Given the description of an element on the screen output the (x, y) to click on. 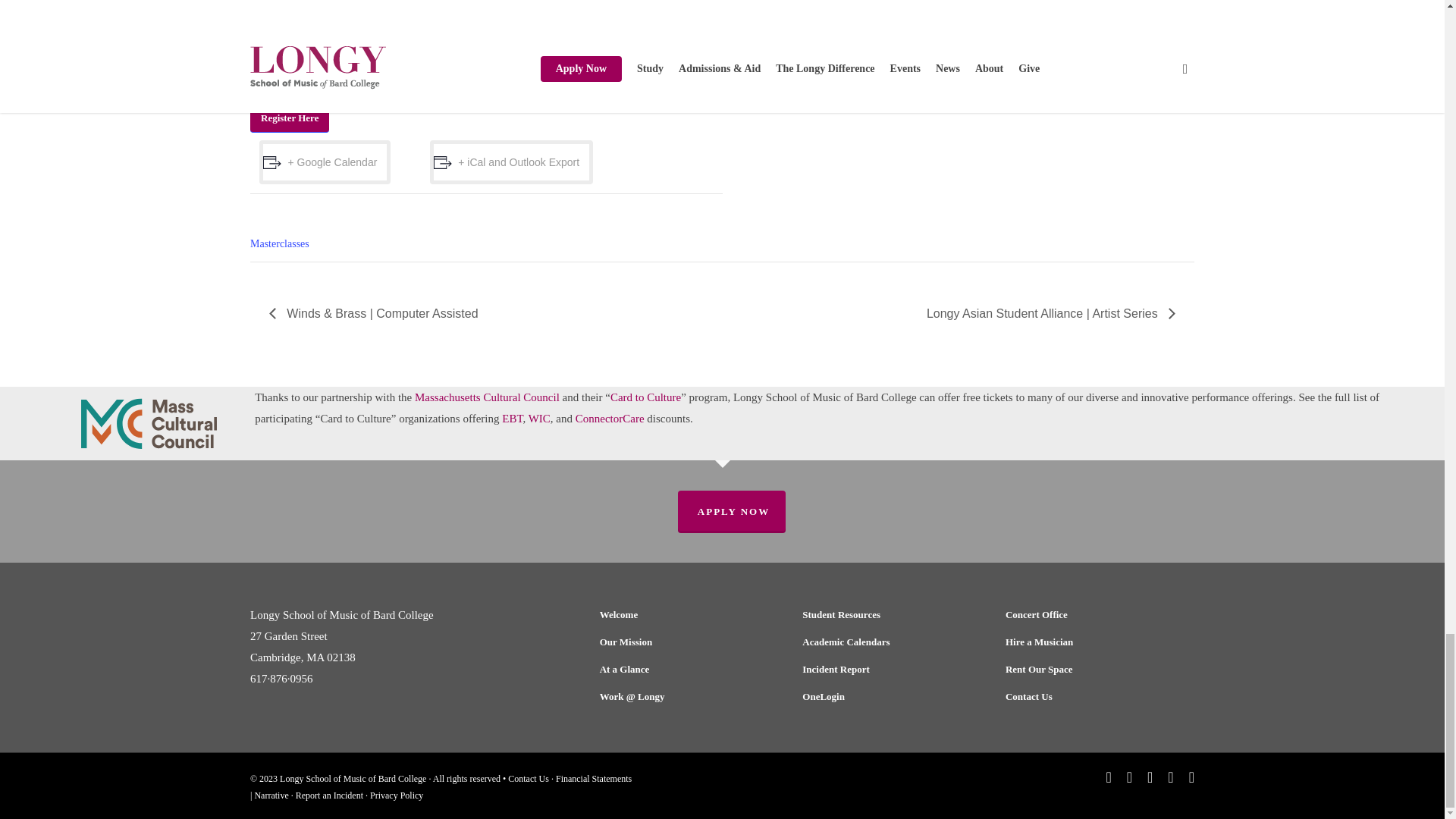
Add to Google Calendar (324, 162)
WIC (539, 418)
Card to Culture (645, 397)
ConnectorCare (610, 418)
Register Here (289, 118)
EBT (512, 418)
Masterclasses (279, 243)
Massachusetts Cultural Council (486, 397)
